Given the description of an element on the screen output the (x, y) to click on. 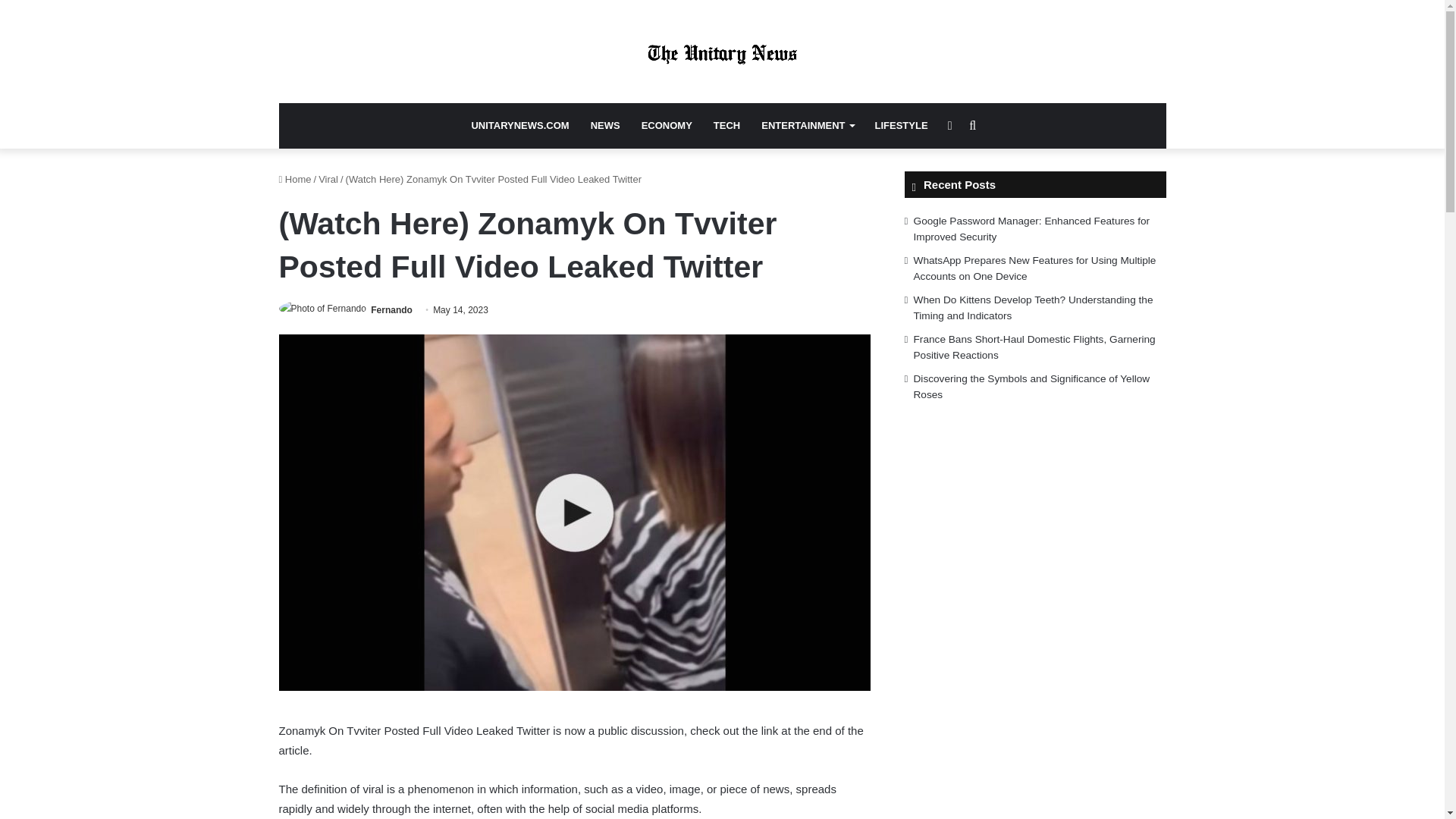
ENTERTAINMENT (807, 125)
Switch skin (949, 125)
Search for (972, 125)
TECH (727, 125)
Switch skin (949, 125)
LIFESTYLE (901, 125)
NEWS (604, 125)
Fernando (391, 309)
Home (295, 179)
Unitary News (721, 51)
ECONOMY (666, 125)
Fernando (391, 309)
Viral (327, 179)
UNITARYNEWS.COM (519, 125)
